Given the description of an element on the screen output the (x, y) to click on. 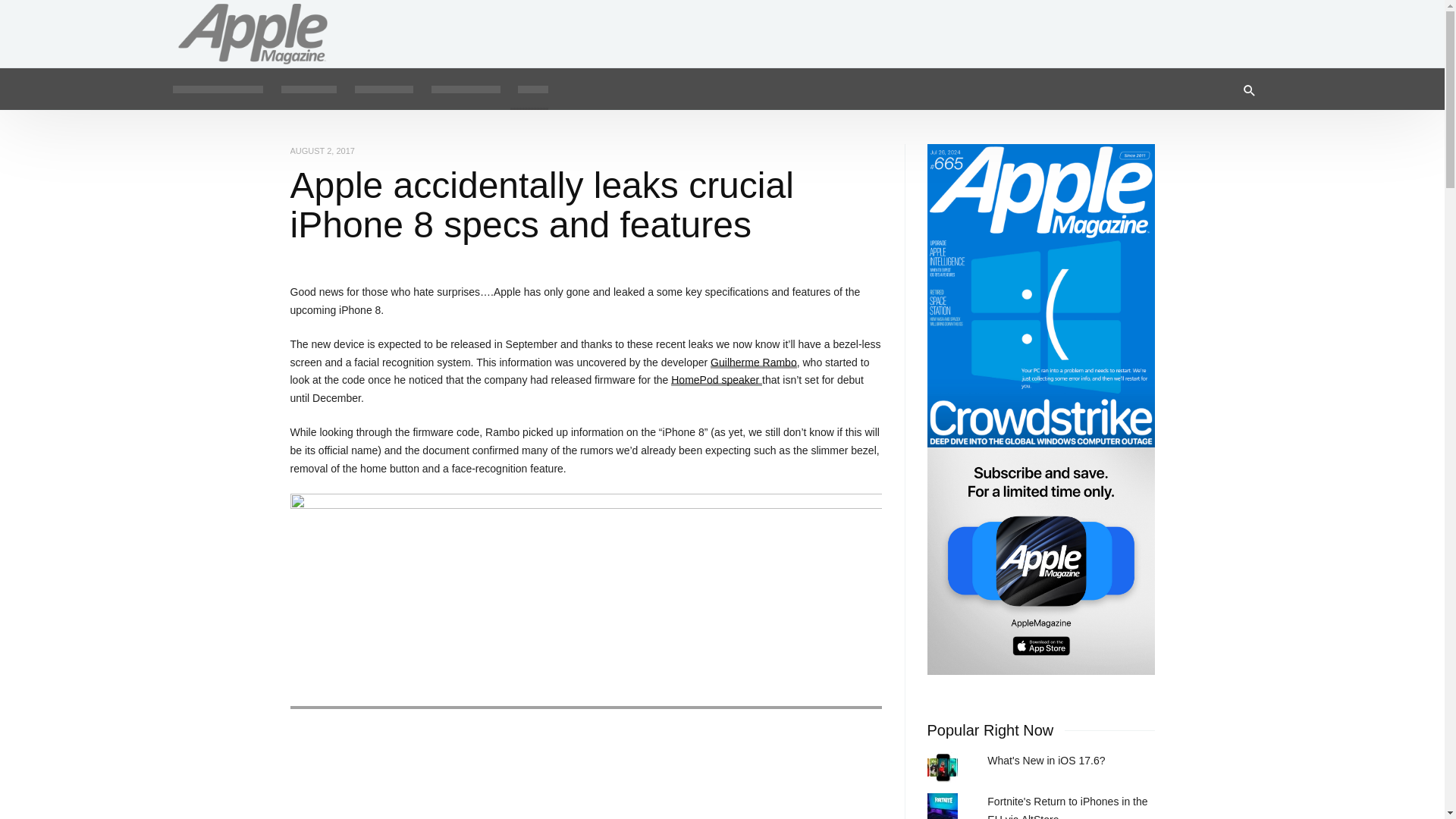
Facebook (1203, 26)
HomePod speaker (716, 379)
Twitter (1228, 26)
What's New in iOS 17.6? (1046, 760)
Instagram (1252, 26)
Guilherme Rambo (753, 362)
